Given the description of an element on the screen output the (x, y) to click on. 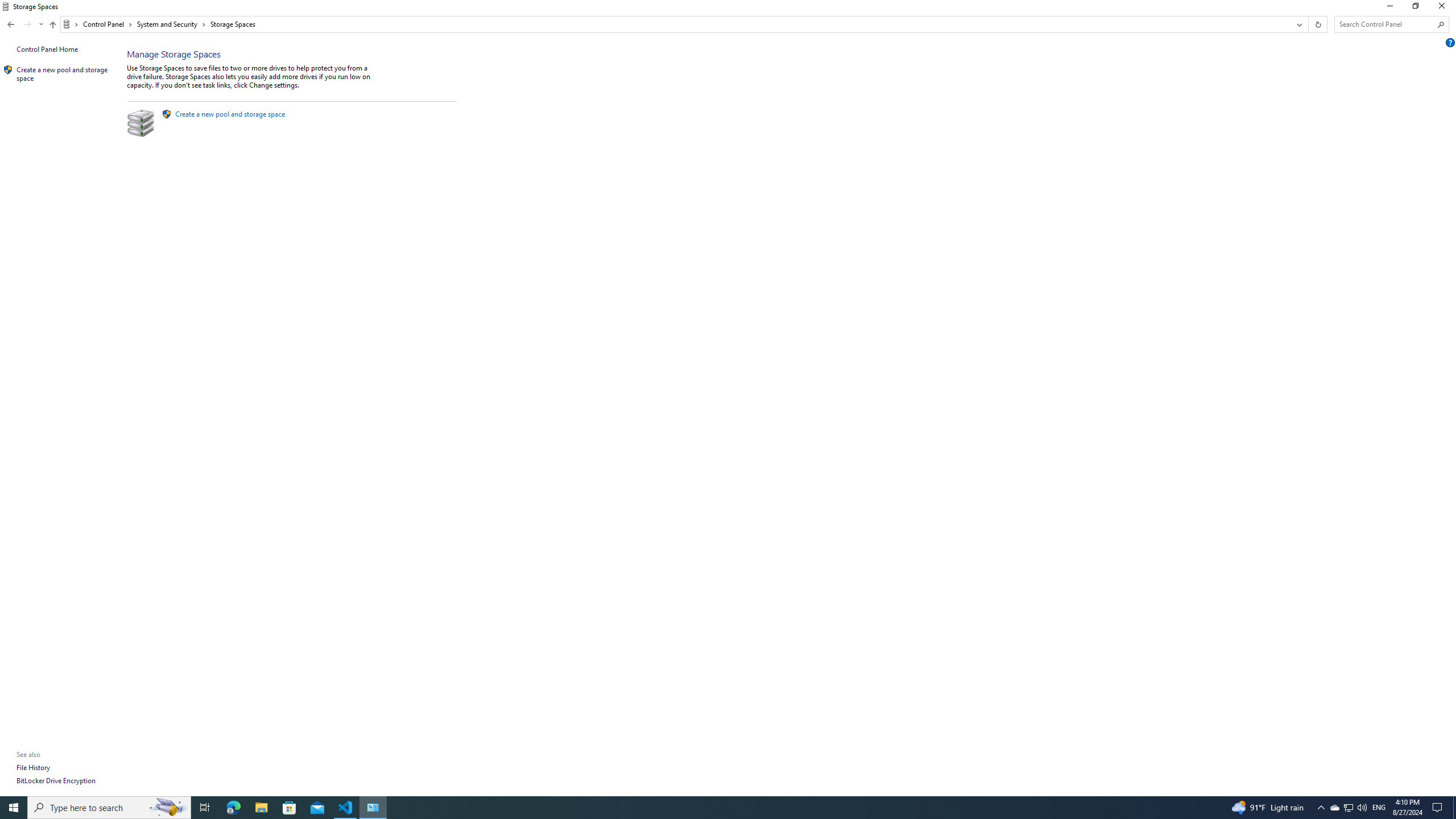
System and Security (171, 23)
